Given the description of an element on the screen output the (x, y) to click on. 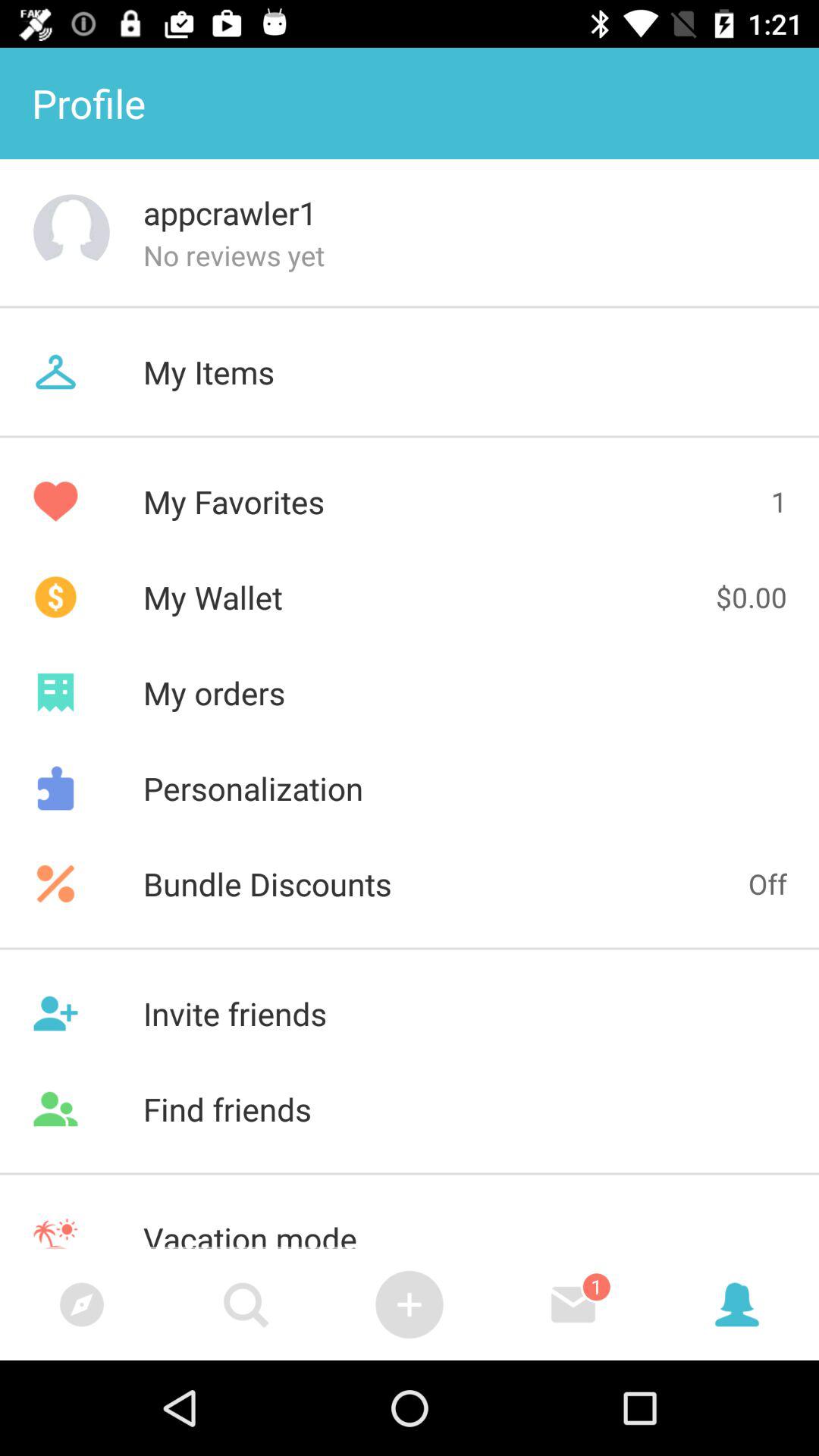
turn off personalization item (409, 788)
